Given the description of an element on the screen output the (x, y) to click on. 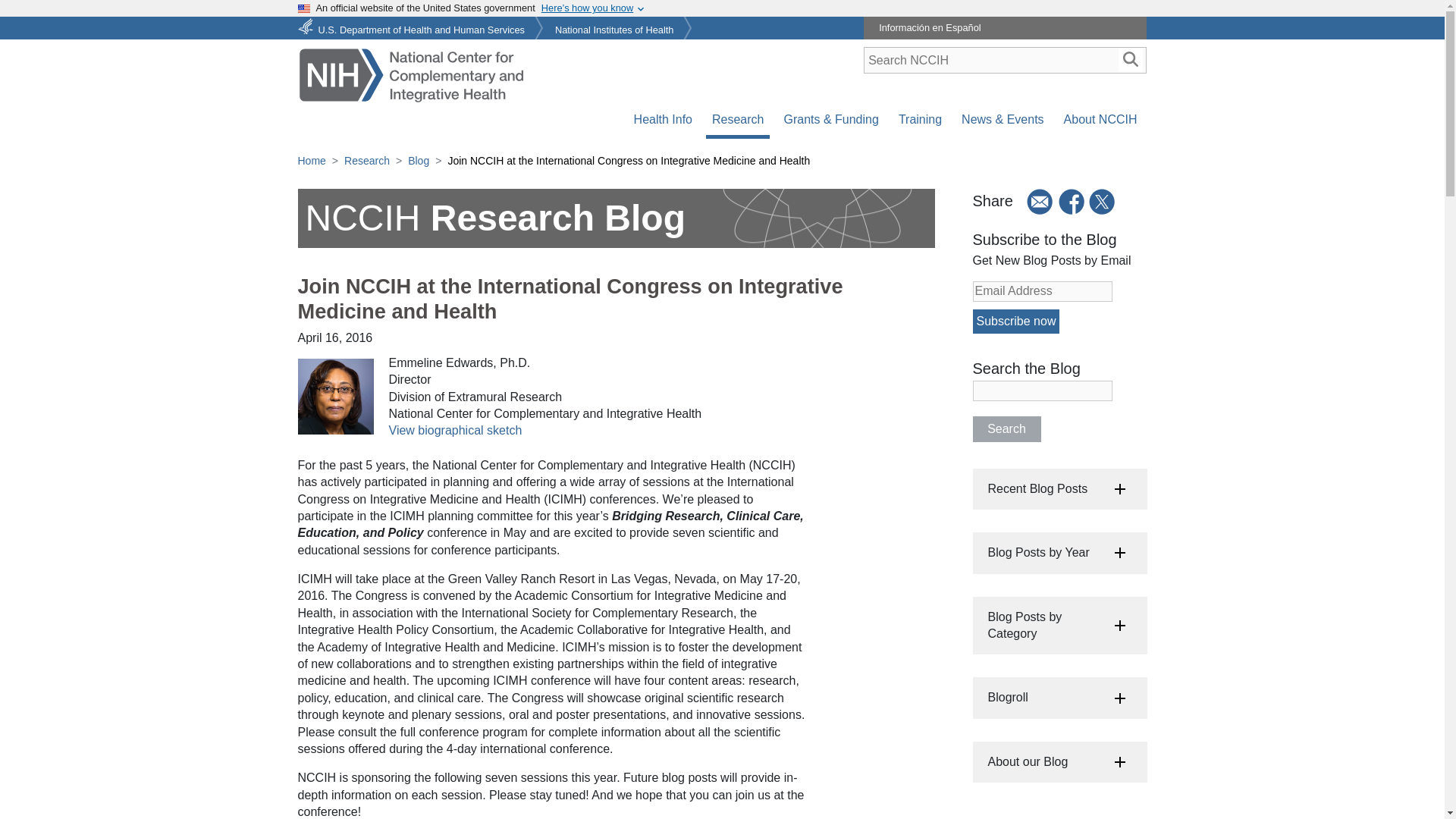
X (1102, 202)
Email (1035, 202)
Post a link to this page (1102, 201)
Health Info (662, 119)
Research (738, 119)
Email a friend (1035, 201)
National Center for Complementary and Integrative Health (410, 73)
Facebook (1072, 202)
National Center for Complementary and Integrative Health (410, 74)
U.S. Department of Health and Human Services (412, 25)
